Given the description of an element on the screen output the (x, y) to click on. 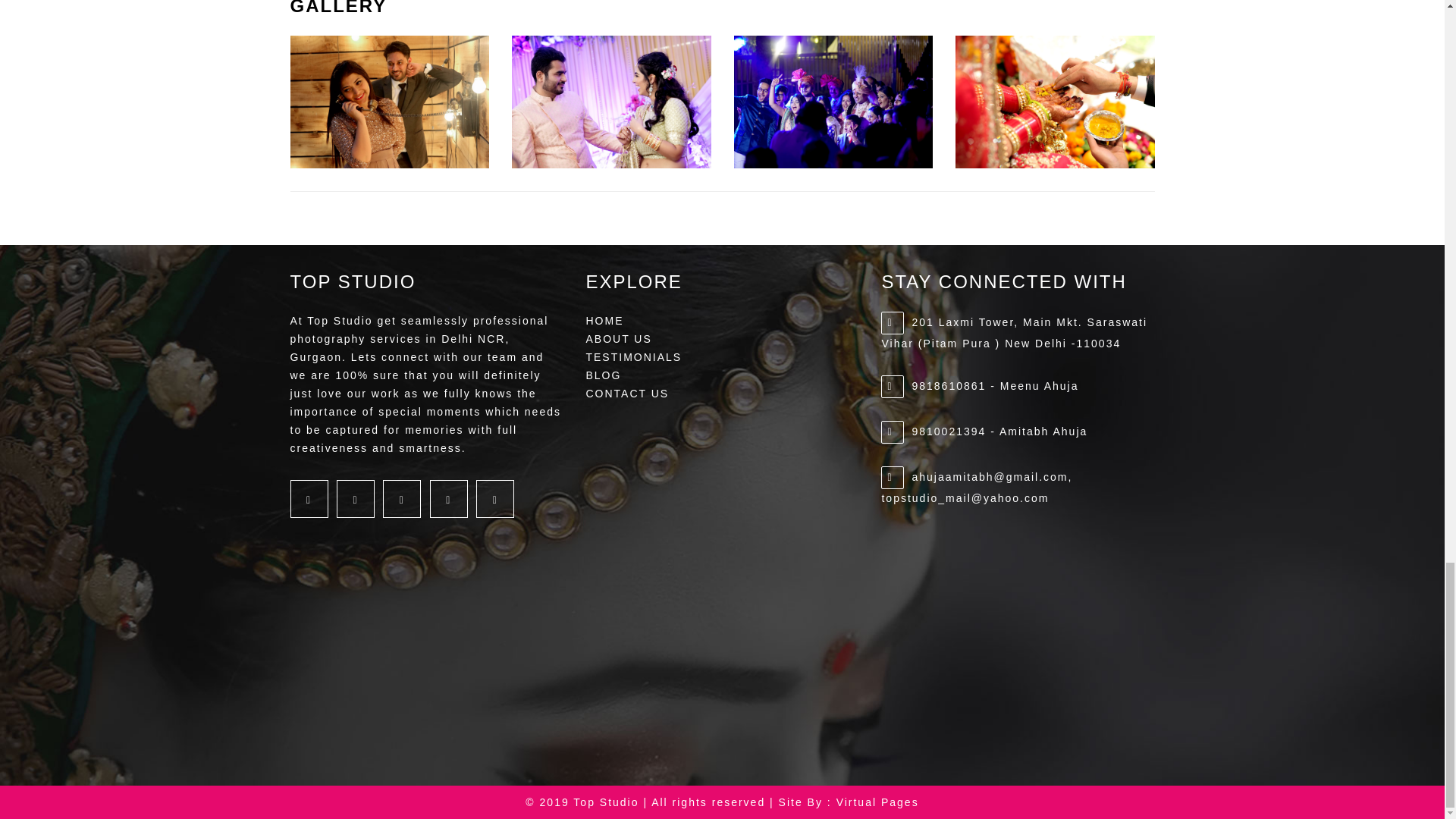
best pre-wedding photogarpher in gurgaon (1054, 102)
Best wedding photographer in gurgaon (611, 102)
pre-wedding-shoot-delhi (389, 102)
Best destination wedding photographer in gurgaon (833, 102)
